Given the description of an element on the screen output the (x, y) to click on. 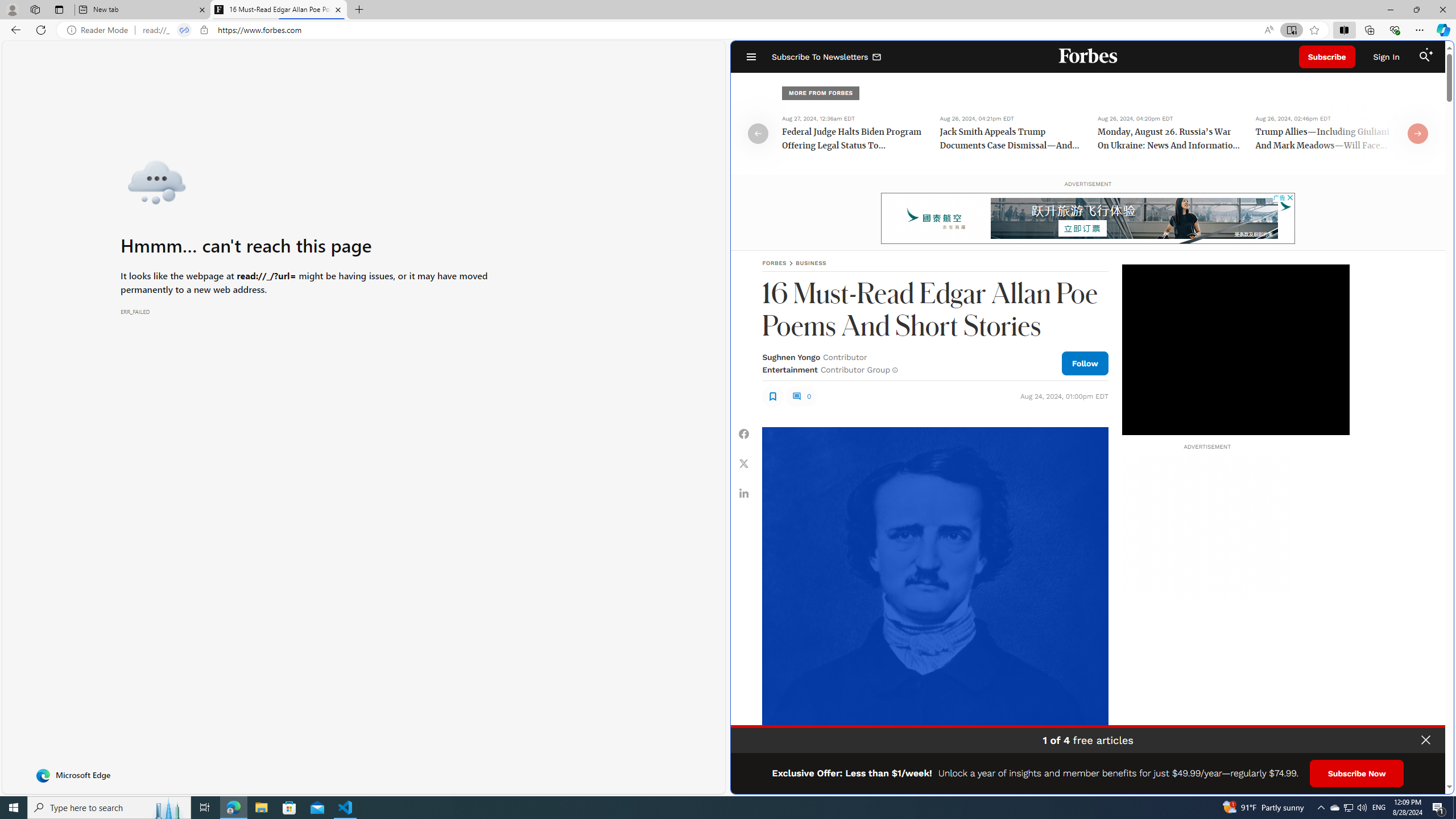
Class: article-sharing__item (743, 493)
0 (801, 396)
Portrait of Edgar Allan Poe. (934, 600)
Reader Mode (100, 29)
Class: envelope_svg__fs-icon envelope_svg__fs-icon--envelope (877, 57)
Arrow Right (1417, 133)
Entertainment (789, 369)
Share Facebook (743, 434)
